Given the description of an element on the screen output the (x, y) to click on. 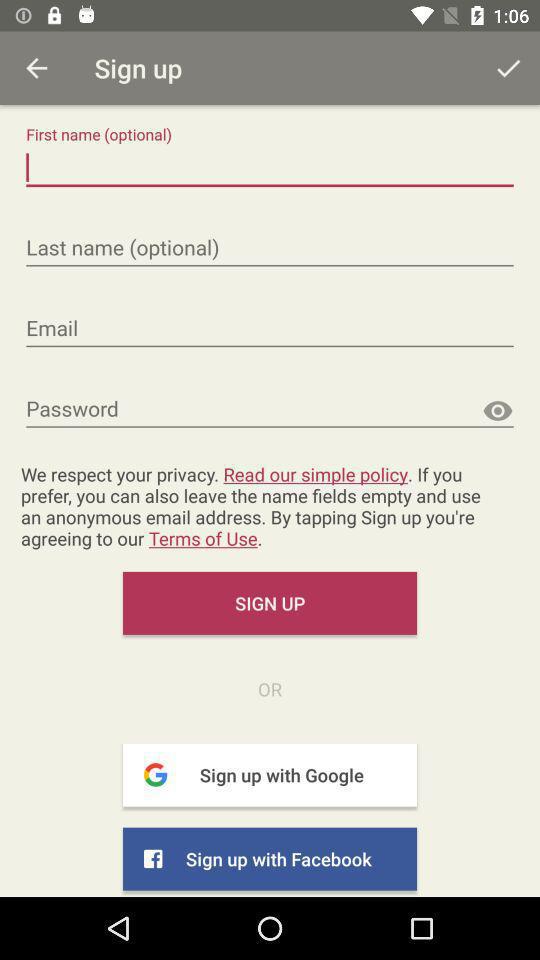
ender the email box (270, 329)
